Given the description of an element on the screen output the (x, y) to click on. 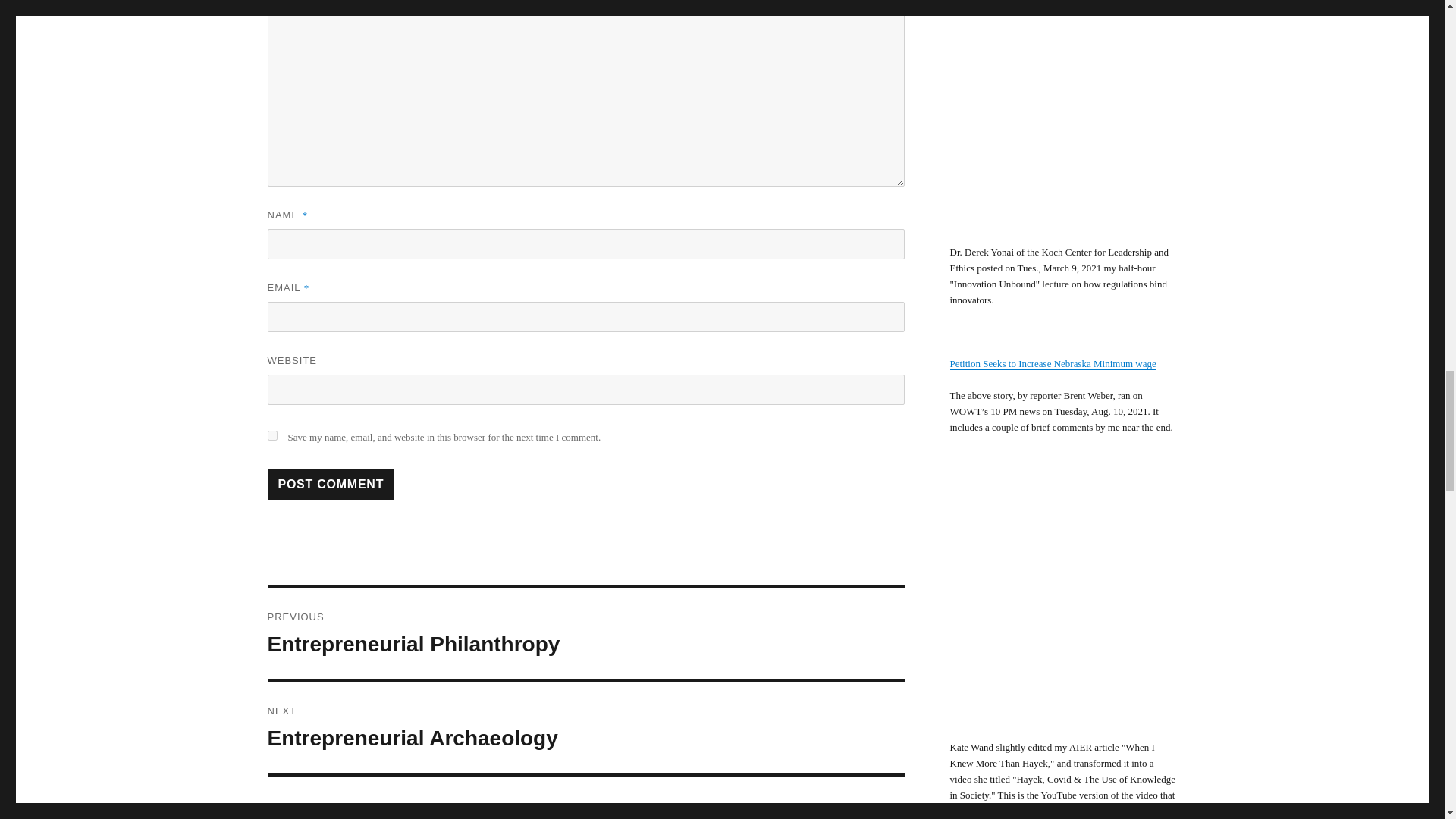
Post Comment (585, 633)
Post Comment (330, 484)
Petition Seeks to Increase Nebraska Minimum wage (585, 727)
yes (330, 484)
